Given the description of an element on the screen output the (x, y) to click on. 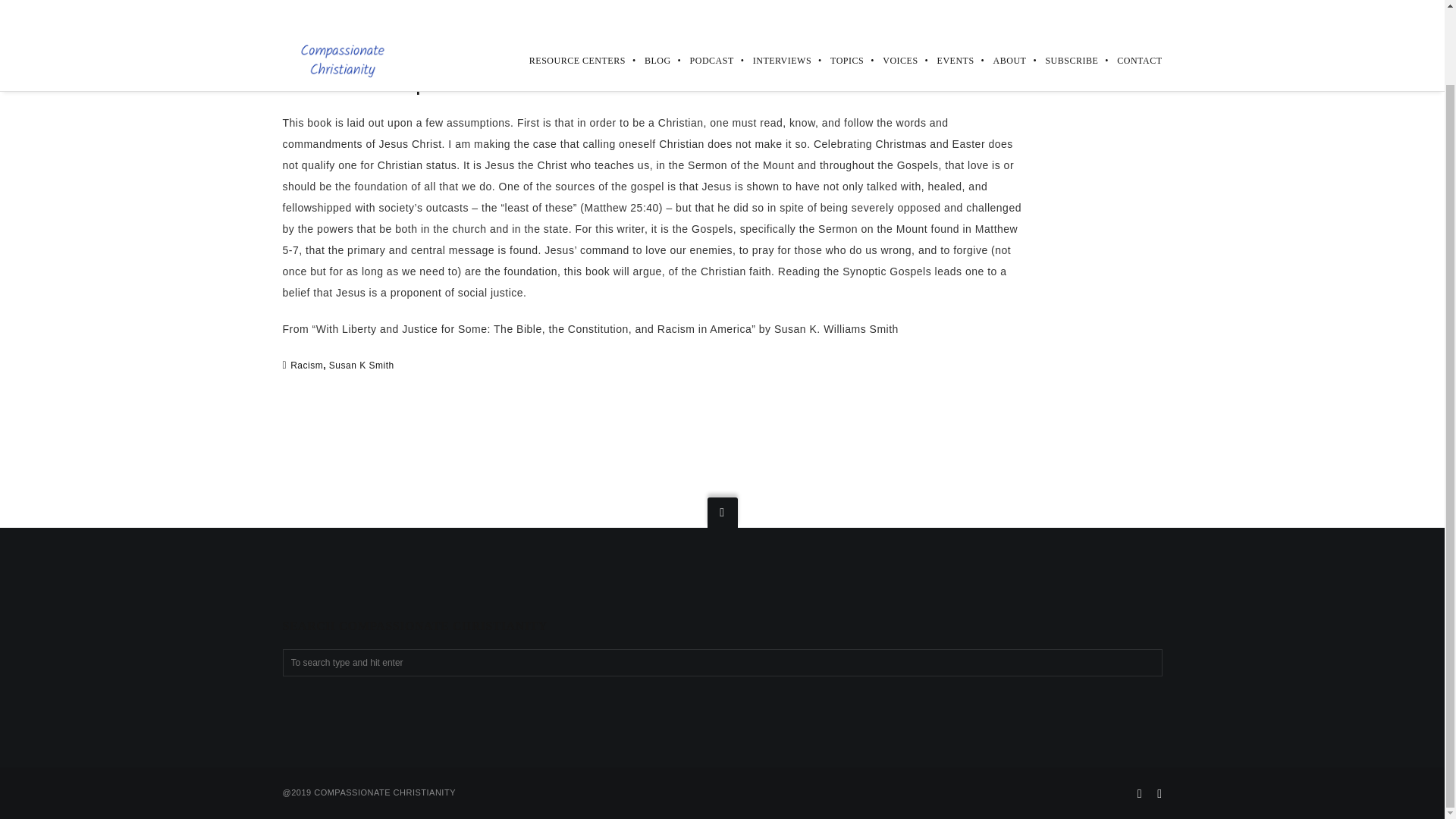
TOPICS (836, 3)
SUBSCRIBE (1061, 3)
VOICES (890, 3)
INTERVIEWS (771, 3)
BLOG (648, 3)
RESOURCE CENTERS (568, 3)
EVENTS (946, 3)
Racism (306, 364)
Susan K Smith (361, 364)
PODCAST (702, 3)
